Given the description of an element on the screen output the (x, y) to click on. 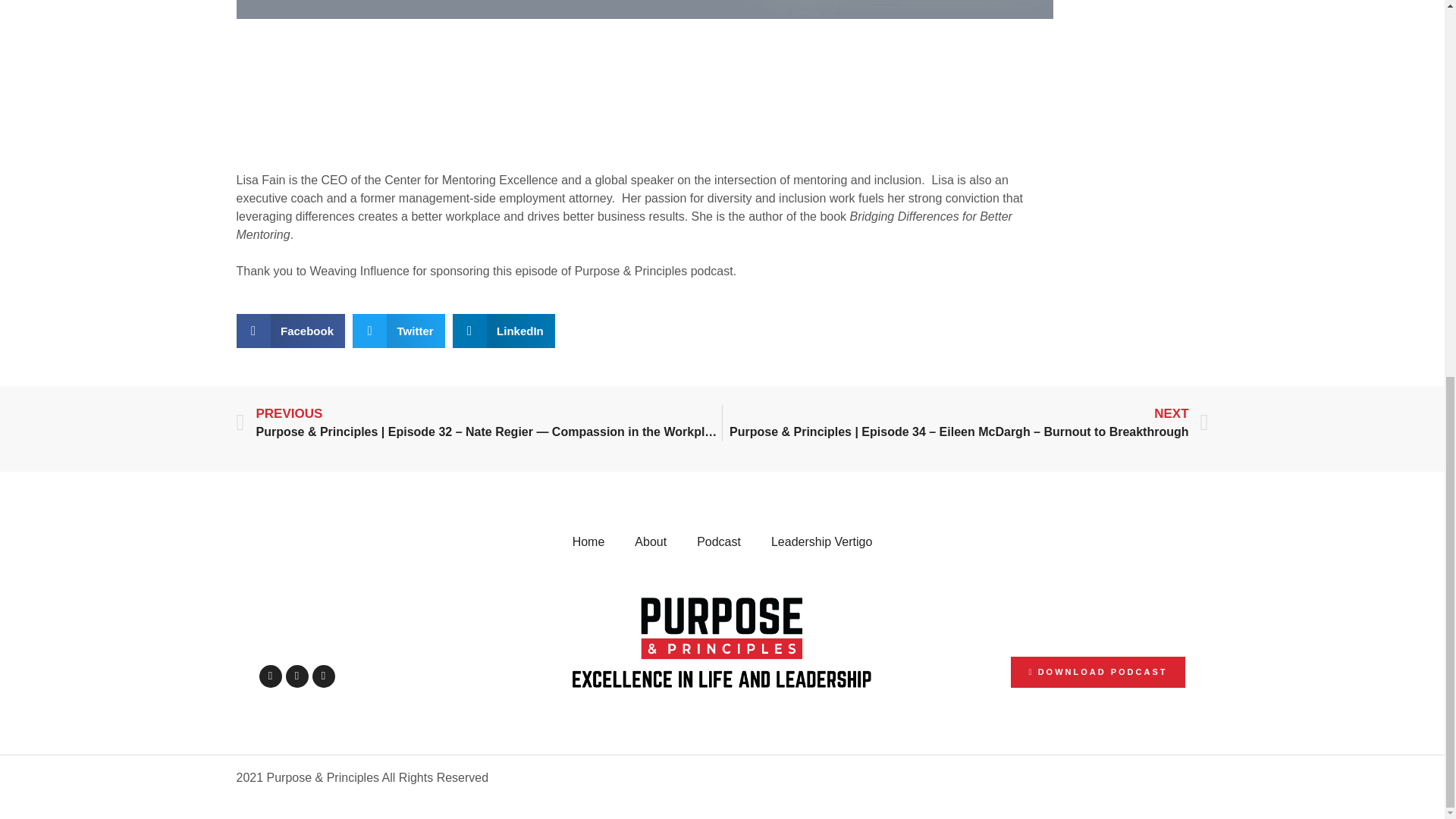
Leadership Vertigo (820, 541)
DOWNLOAD PODCAST (1035, 671)
Podcast (718, 541)
DOWNLOAD PODCAST (1098, 671)
Home (588, 541)
About (650, 541)
